Given the description of an element on the screen output the (x, y) to click on. 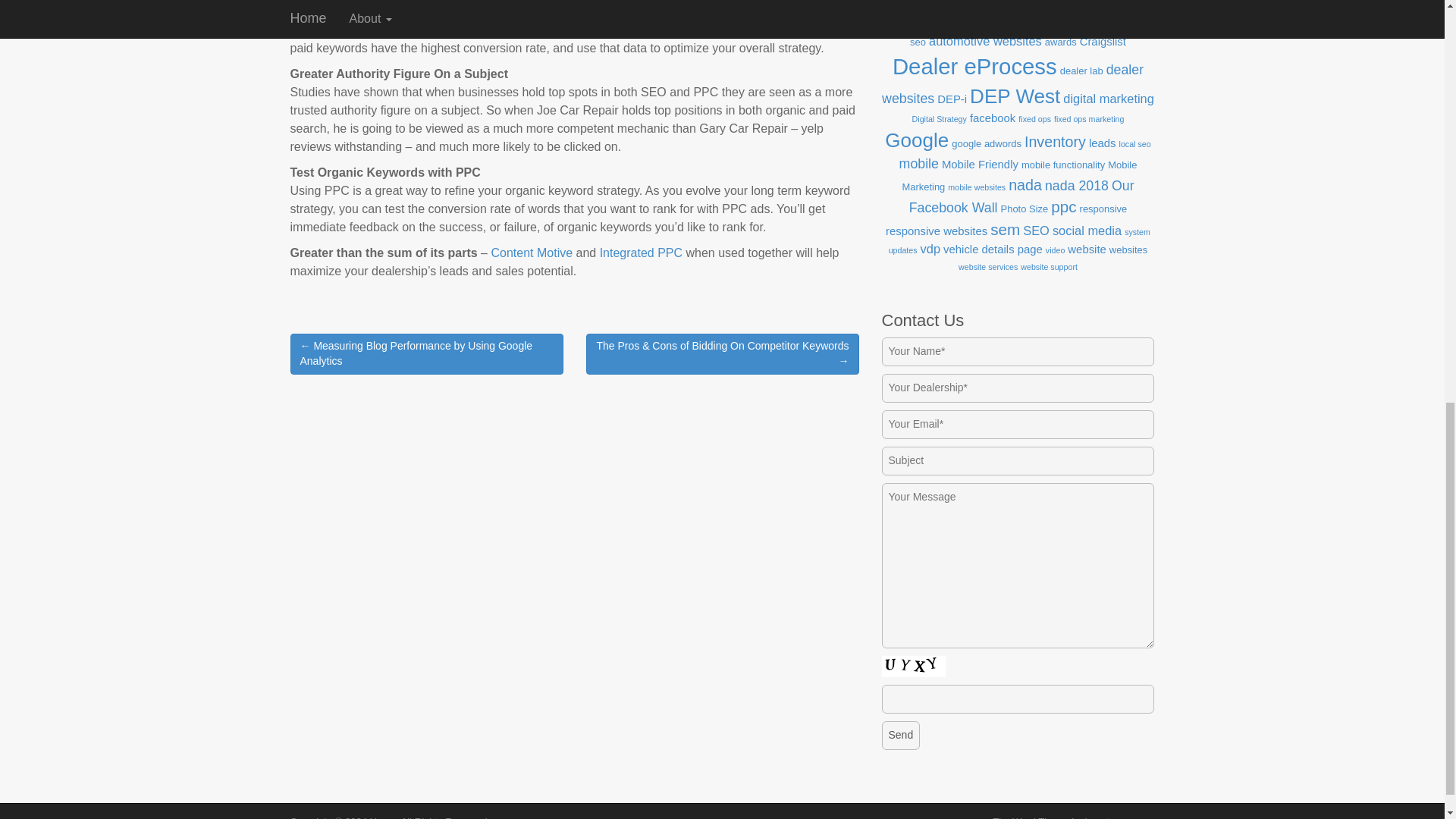
Integrated PPC (642, 252)
Content Motive (531, 252)
Send (900, 735)
